Given the description of an element on the screen output the (x, y) to click on. 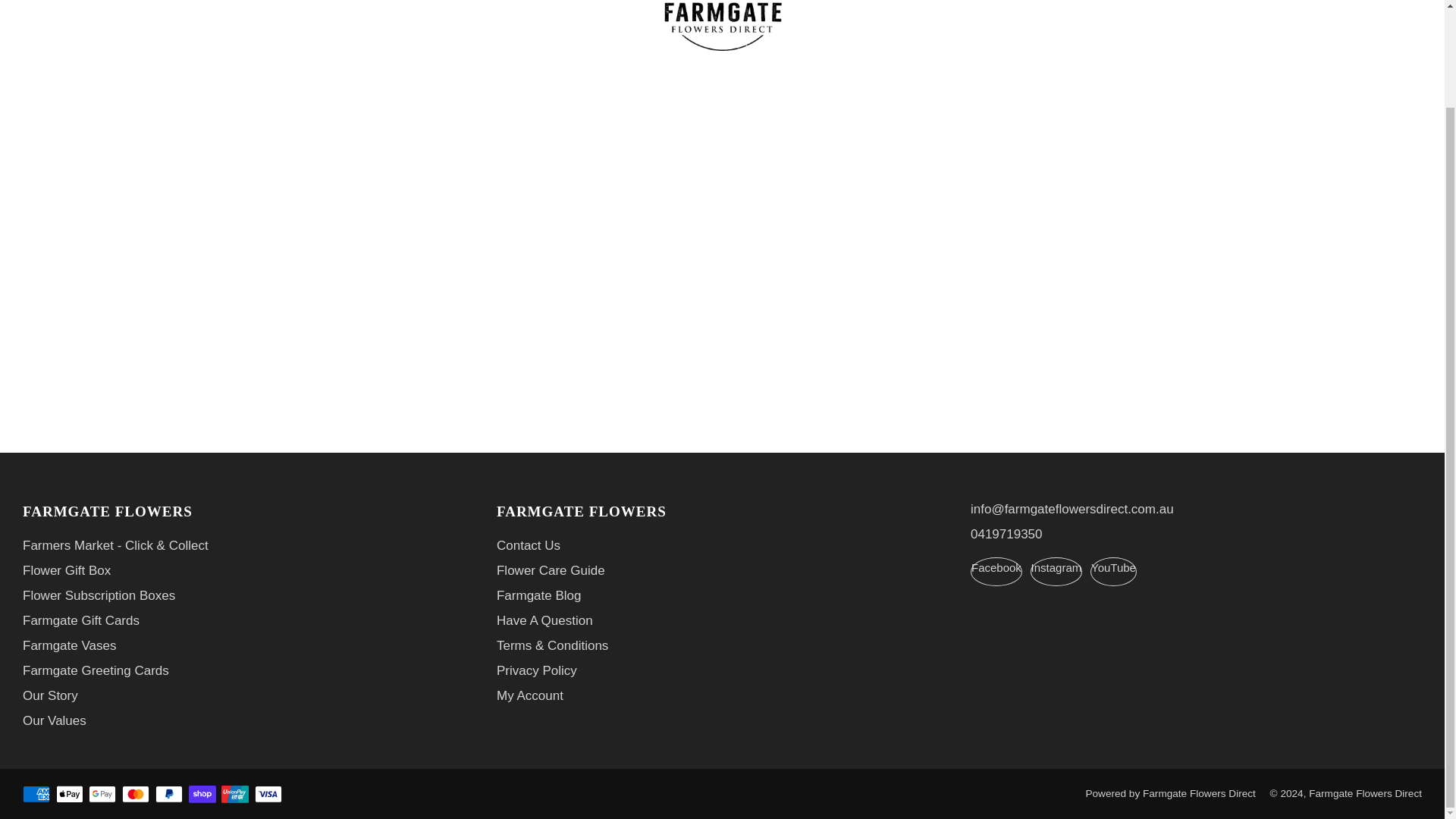
Apple Pay (69, 794)
SHOP (92, 0)
PayPal (169, 794)
Union Pay (234, 794)
Shop Pay (202, 794)
Visa (268, 794)
EXPLORE (162, 0)
Google Pay (102, 794)
Mastercard (135, 794)
American Express (36, 794)
